Given the description of an element on the screen output the (x, y) to click on. 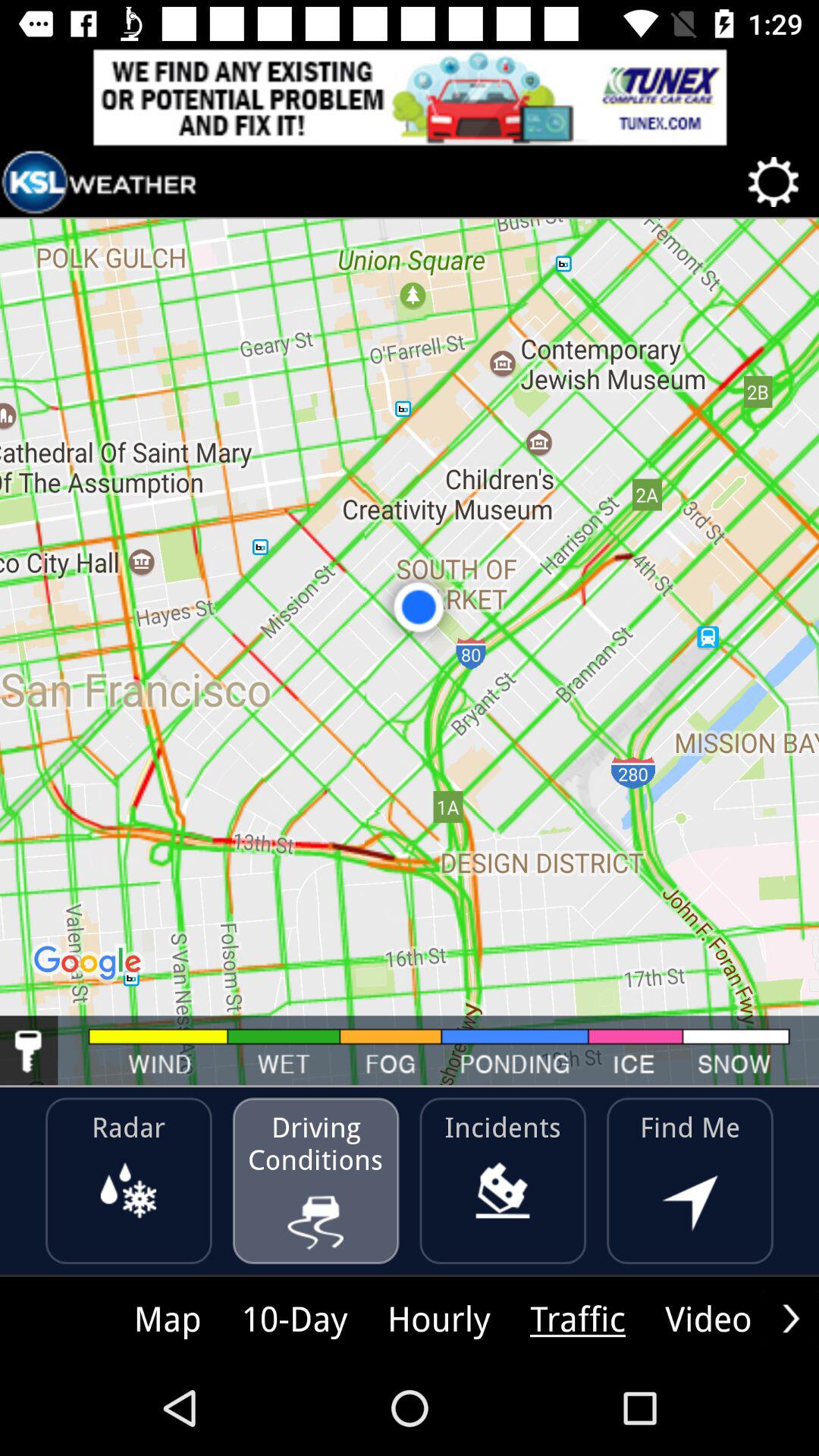
view more (791, 1318)
